Given the description of an element on the screen output the (x, y) to click on. 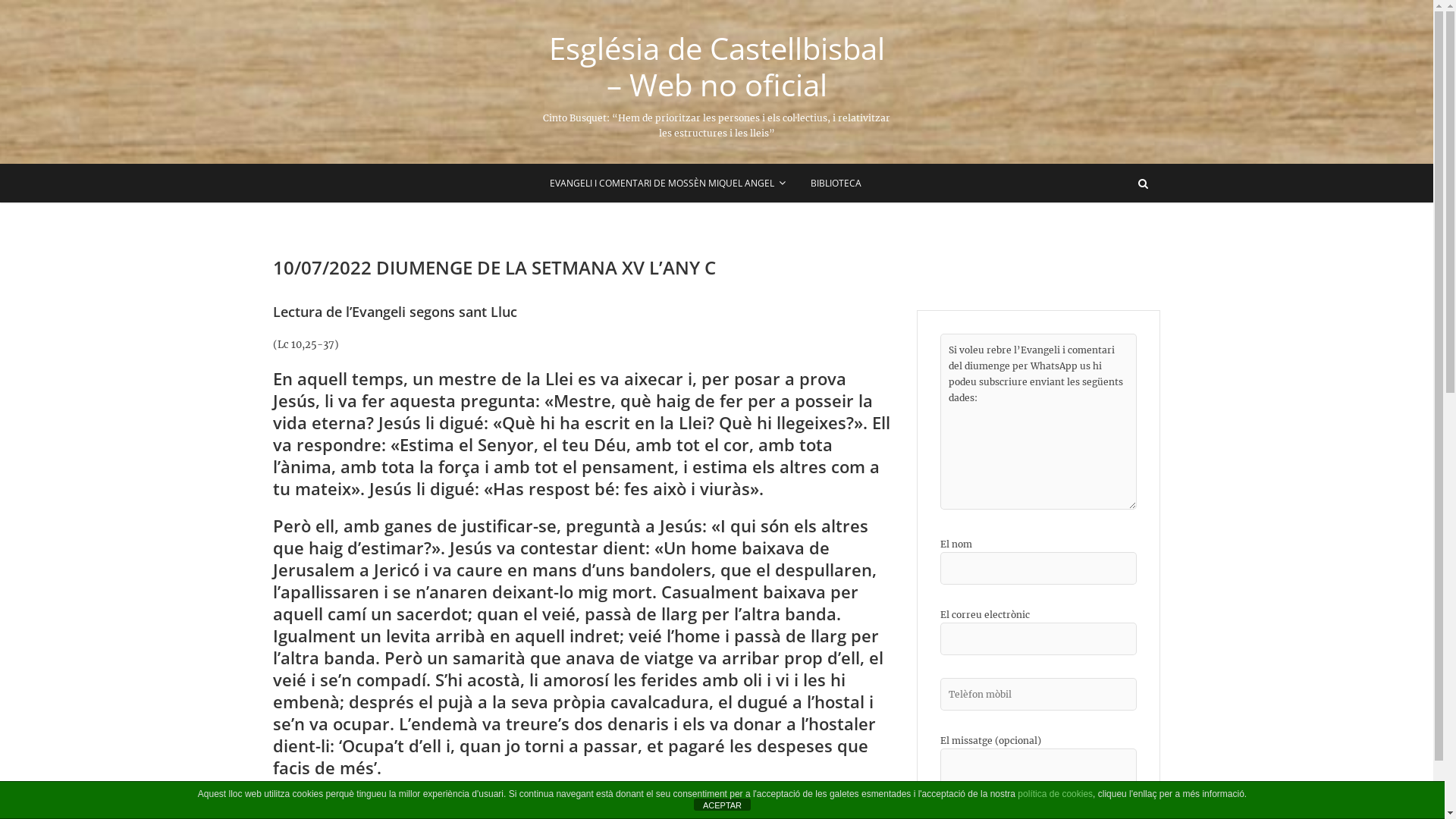
ACEPTAR Element type: text (721, 804)
BIBLIOTECA Element type: text (835, 182)
